Given the description of an element on the screen output the (x, y) to click on. 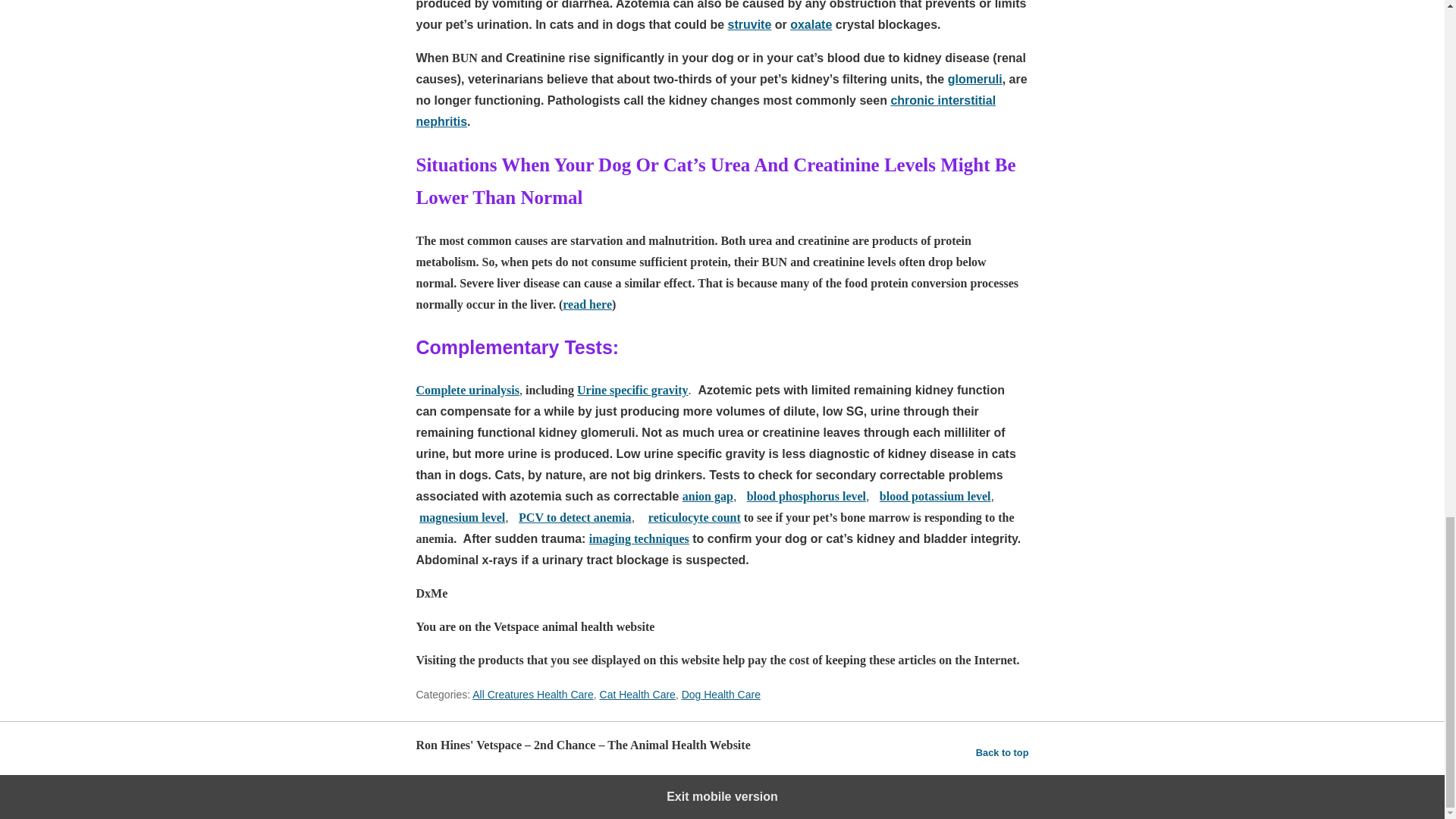
read here (586, 304)
anion gap (707, 495)
PCV to detect anemia (574, 517)
Back to top (1002, 752)
chronic interstitial nephritis (704, 110)
blood potassium level (935, 495)
oxalate (810, 24)
Complete urinalysis (466, 390)
Dog Health Care (720, 694)
blood phosphorus level (806, 495)
